Given the description of an element on the screen output the (x, y) to click on. 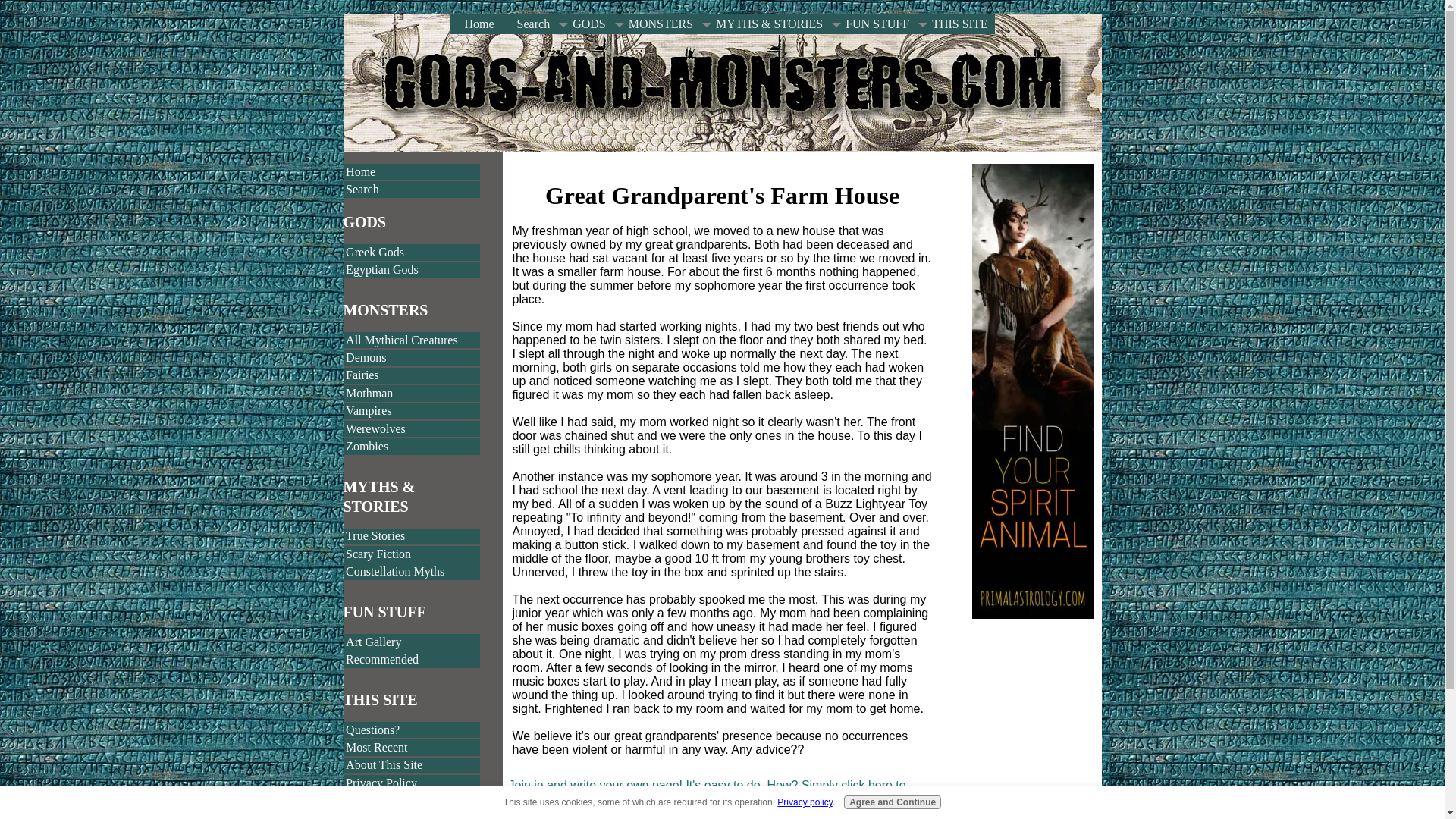
Fairies (411, 375)
Recommended (411, 659)
Zombies (411, 446)
Search (529, 24)
Egyptian Gods (411, 269)
Constellation Myths (411, 571)
Demons (411, 357)
Greek Gods (411, 252)
Scary Fiction (411, 554)
Home (411, 171)
